Given the description of an element on the screen output the (x, y) to click on. 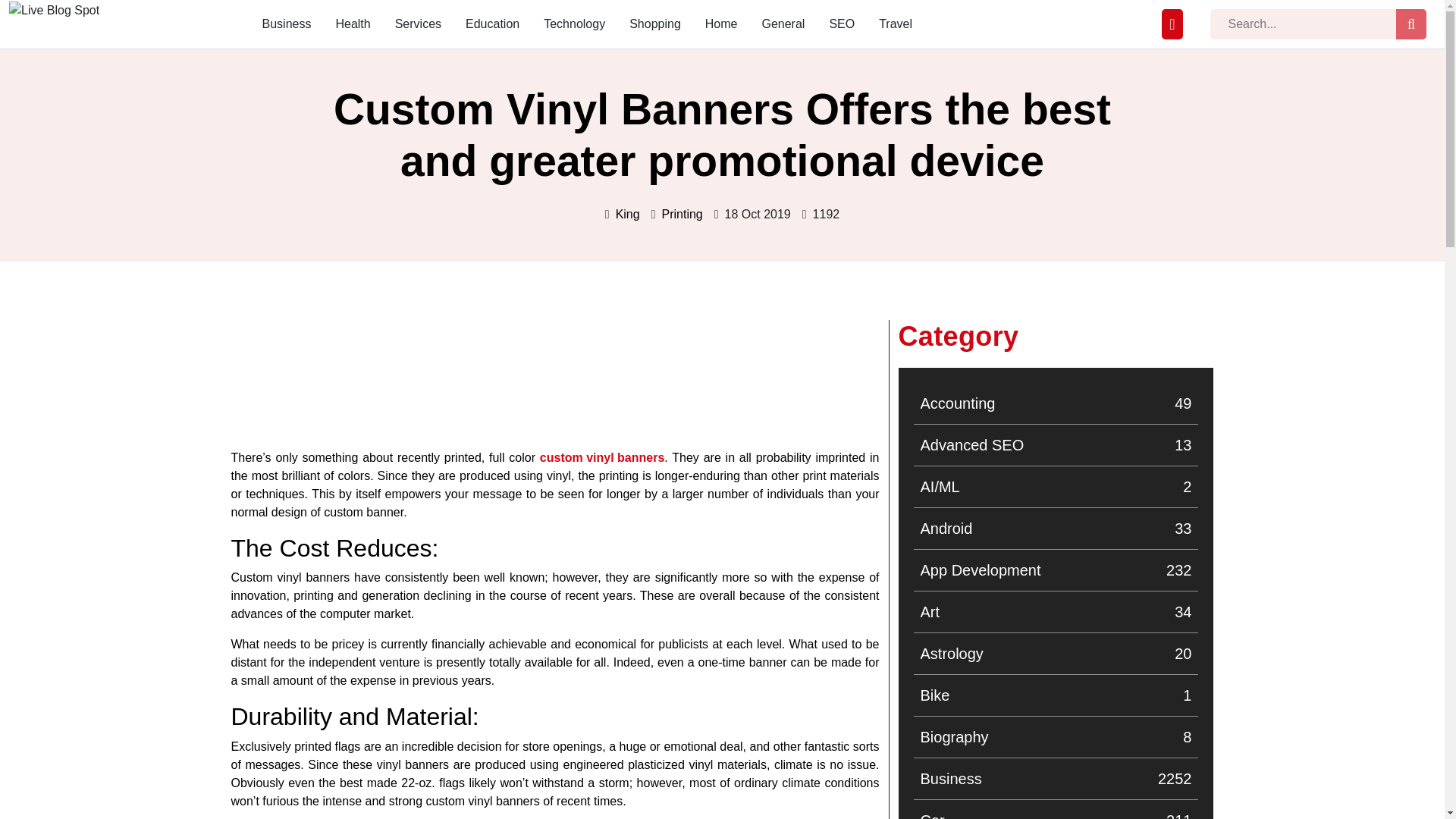
Printing (681, 214)
Live Blog Spot (53, 30)
King (627, 214)
Custom Vinyl Banners (602, 457)
custom vinyl banners (1056, 736)
